Given the description of an element on the screen output the (x, y) to click on. 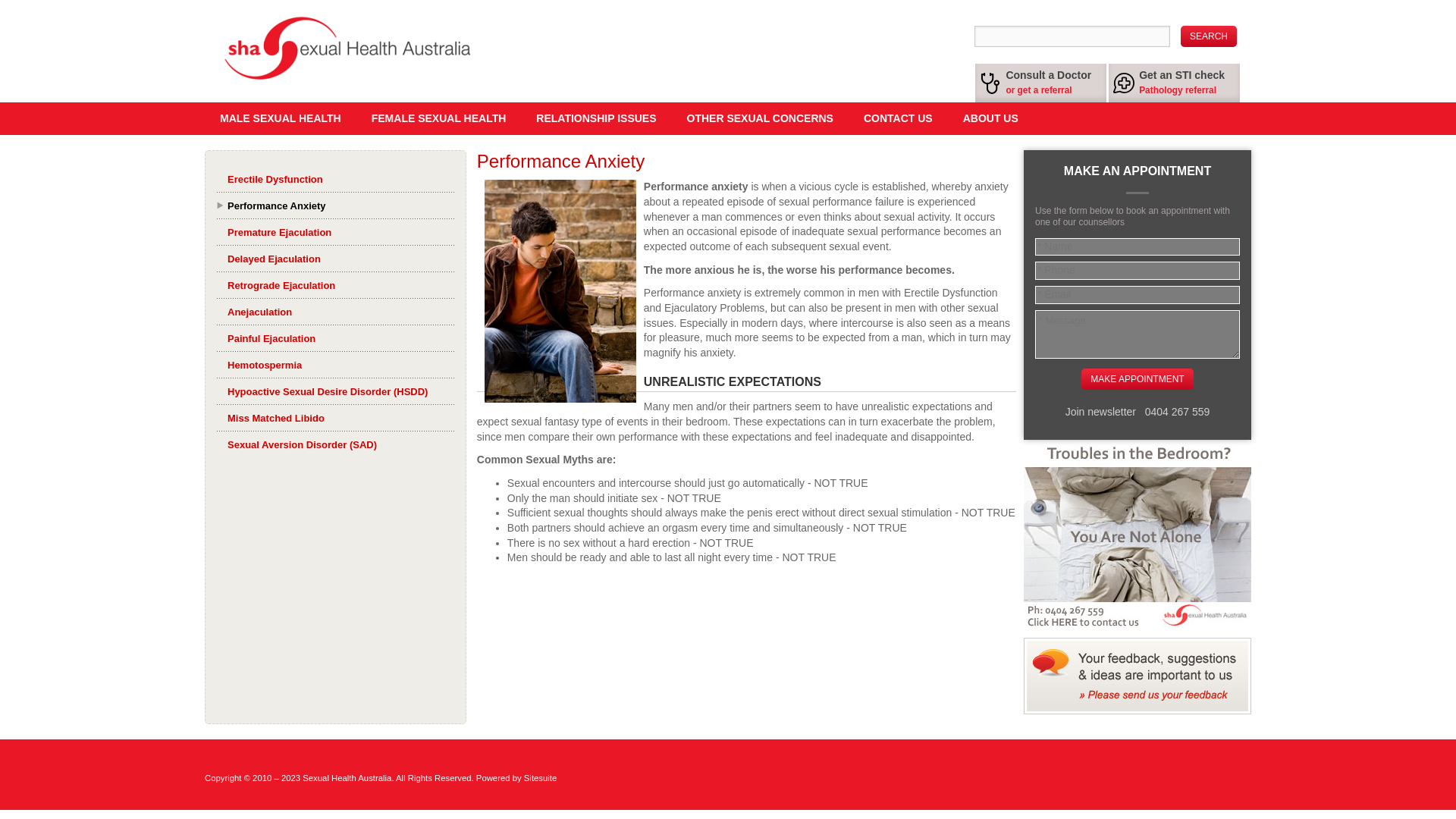
Intimacy Issues?  You are not alone (1136, 534)
Send us your feedback (1136, 676)
